Given the description of an element on the screen output the (x, y) to click on. 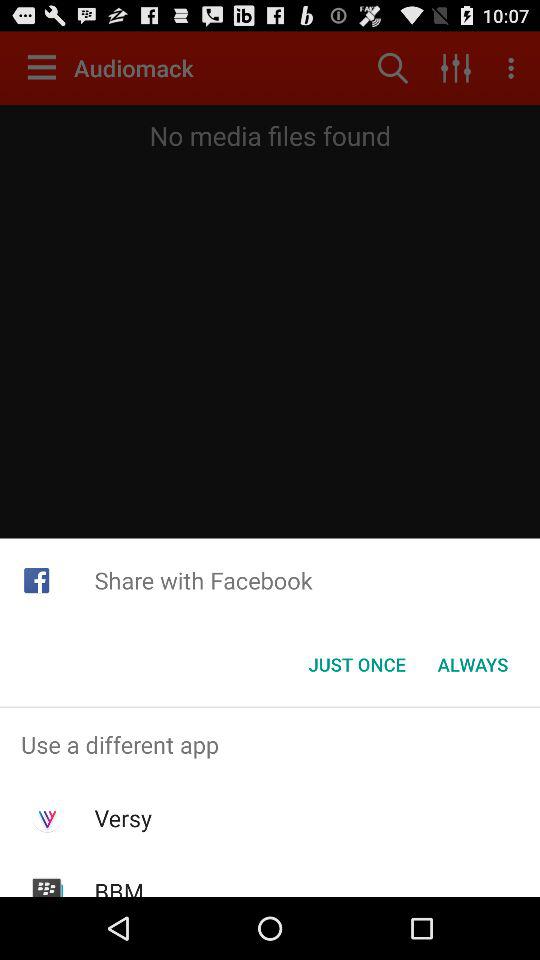
select item next to the always icon (356, 664)
